Given the description of an element on the screen output the (x, y) to click on. 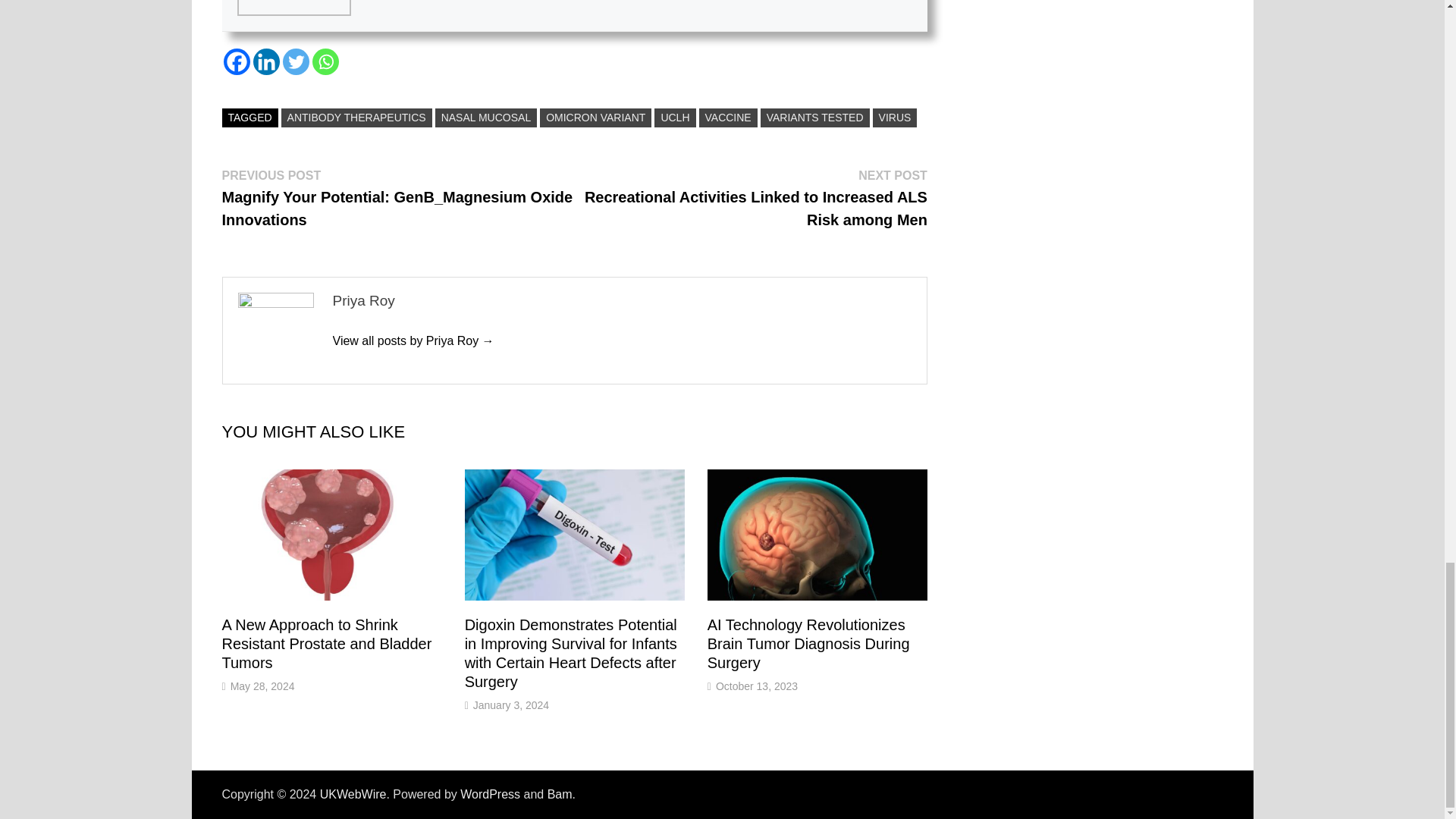
UKWebWire (353, 793)
Linkedin (266, 61)
Twitter (295, 61)
Priya Roy (412, 340)
Facebook (235, 61)
Whatsapp (326, 61)
